Given the description of an element on the screen output the (x, y) to click on. 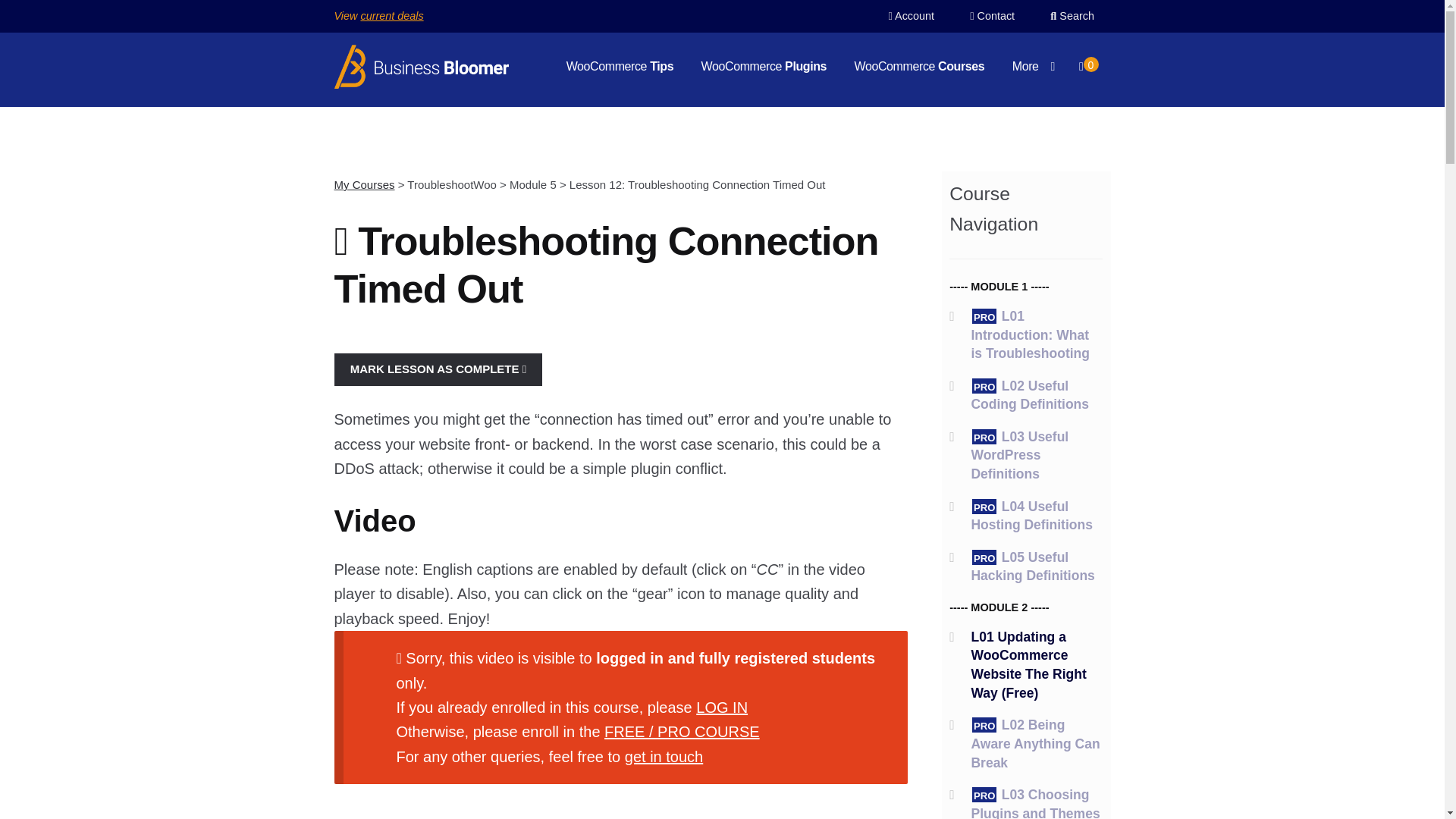
PRO L03 Useful WordPress Definitions (1019, 455)
Account (911, 15)
PRO L05 Useful Hacking Definitions (1032, 566)
PRO L04 Useful Hosting Definitions (1031, 515)
WooCommerce Tips (619, 66)
current deals (391, 15)
get in touch (663, 756)
Checkout (1088, 64)
0 (1088, 64)
WooCommerce Courses (920, 66)
WooCommerce Plugins (763, 66)
My Courses (363, 184)
Search (1071, 15)
More (1033, 66)
LOG IN (721, 707)
